Given the description of an element on the screen output the (x, y) to click on. 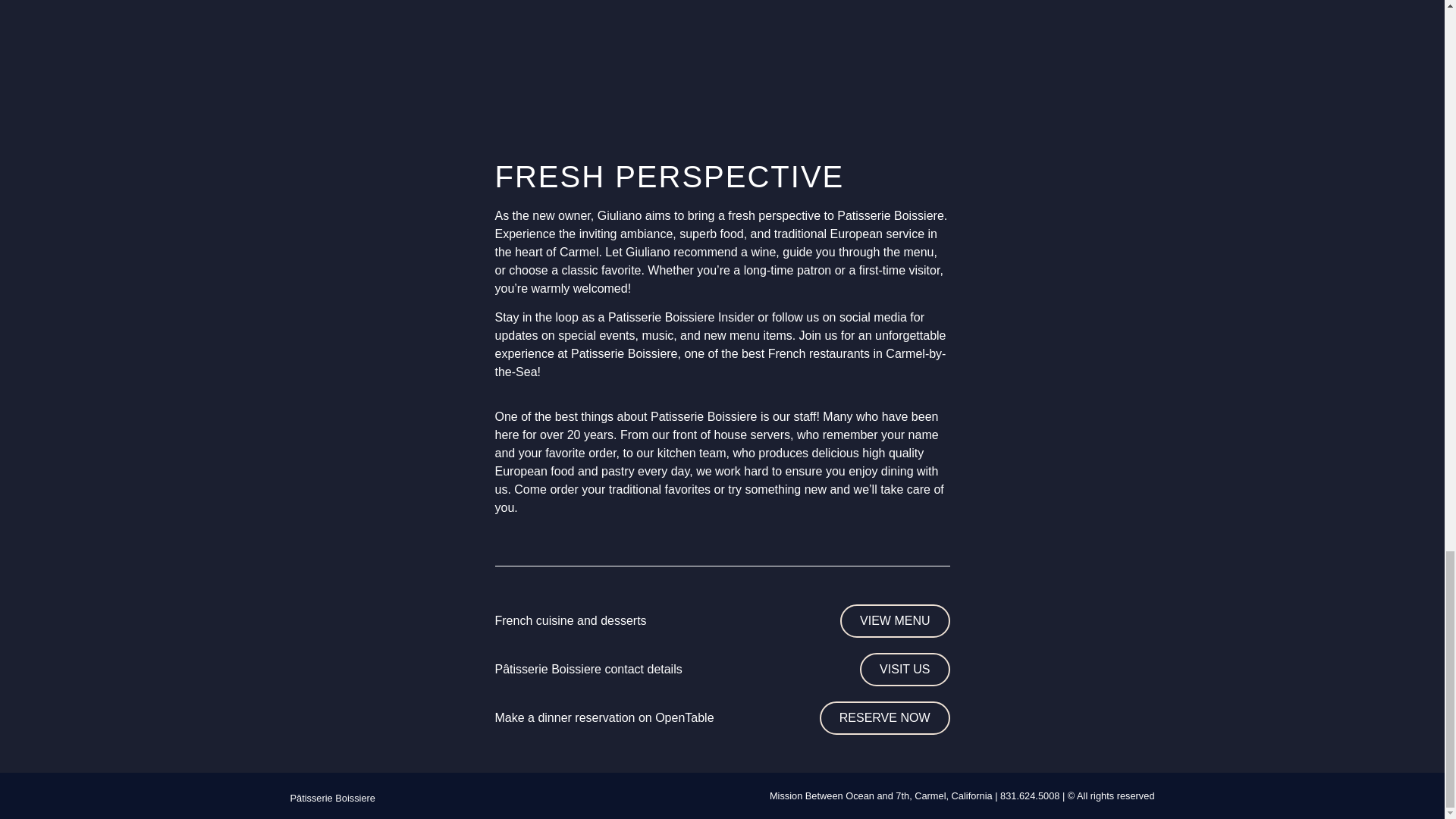
Home (331, 797)
VISIT US (904, 669)
VIEW MENU (894, 621)
RESERVE NOW (884, 717)
